Given the description of an element on the screen output the (x, y) to click on. 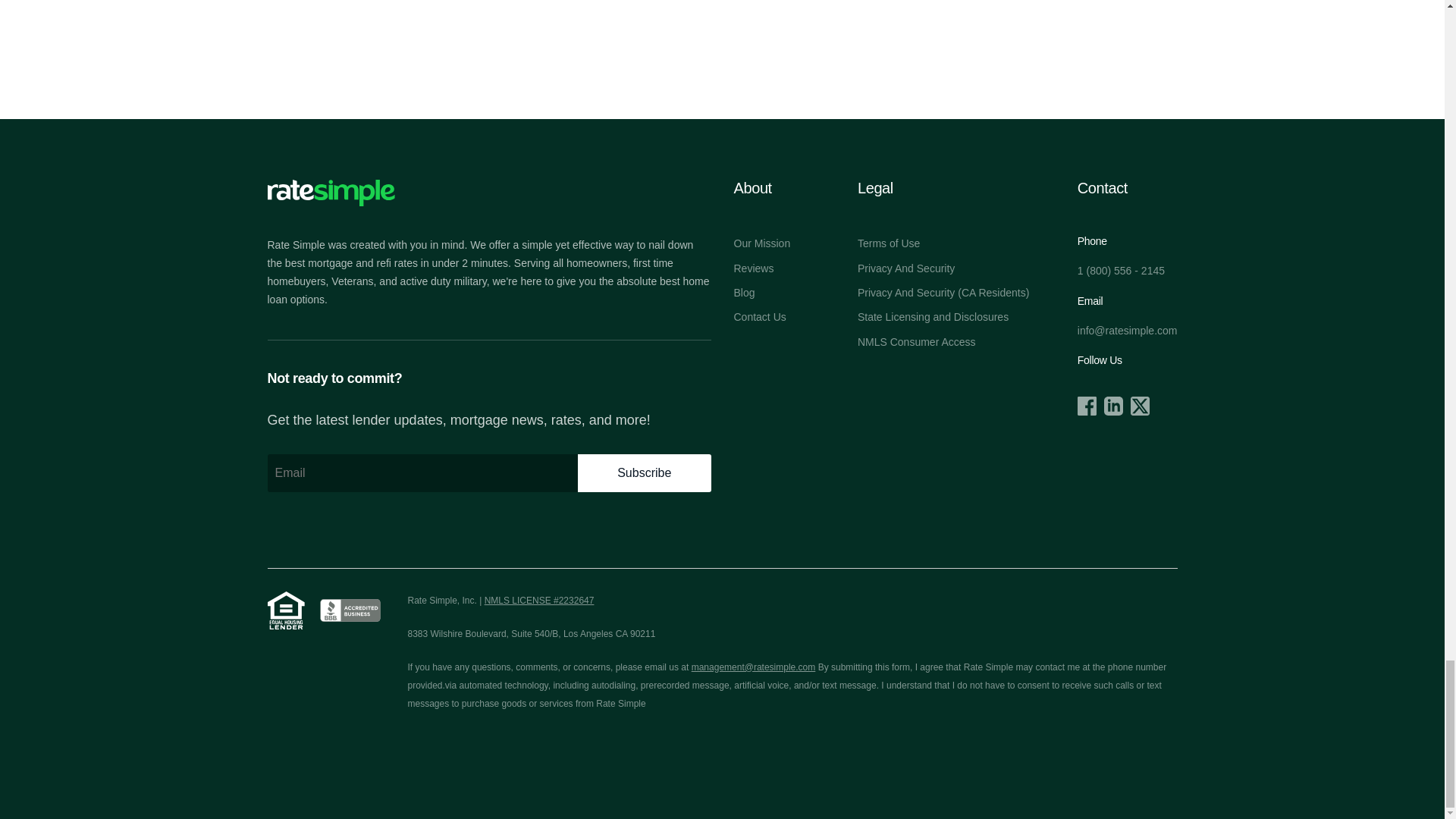
Reviews (753, 268)
State Licensing and Disclosures (933, 316)
Subscribe (644, 473)
Contact Us (759, 316)
NMLS Consumer Access (916, 341)
Our Mission (761, 243)
Privacy And Security (906, 268)
Blog (744, 292)
Terms of Use (888, 243)
